Given the description of an element on the screen output the (x, y) to click on. 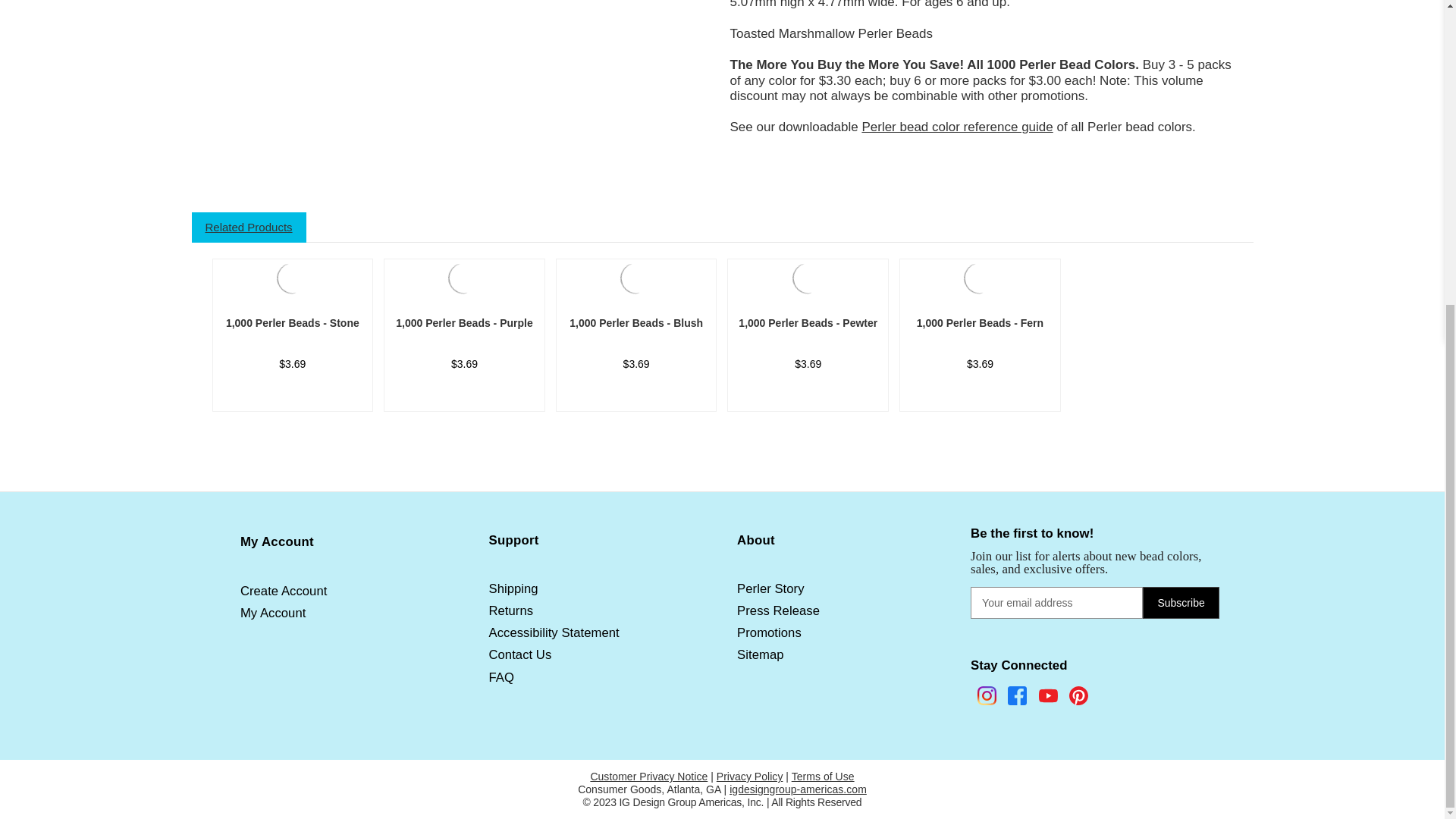
1,000 Perler Beads - Stone (292, 276)
1000 Beads Stone (292, 278)
1000 Beads Blush (636, 278)
1,000 Perler Beads - Purple (464, 322)
1000 Beads Purple (464, 278)
Subscribe (1180, 603)
1,000 Perler Beads - Purple (464, 276)
1,000 Perler Beads - Stone (292, 322)
1,000 Perler Beads - Blush (636, 276)
